Given the description of an element on the screen output the (x, y) to click on. 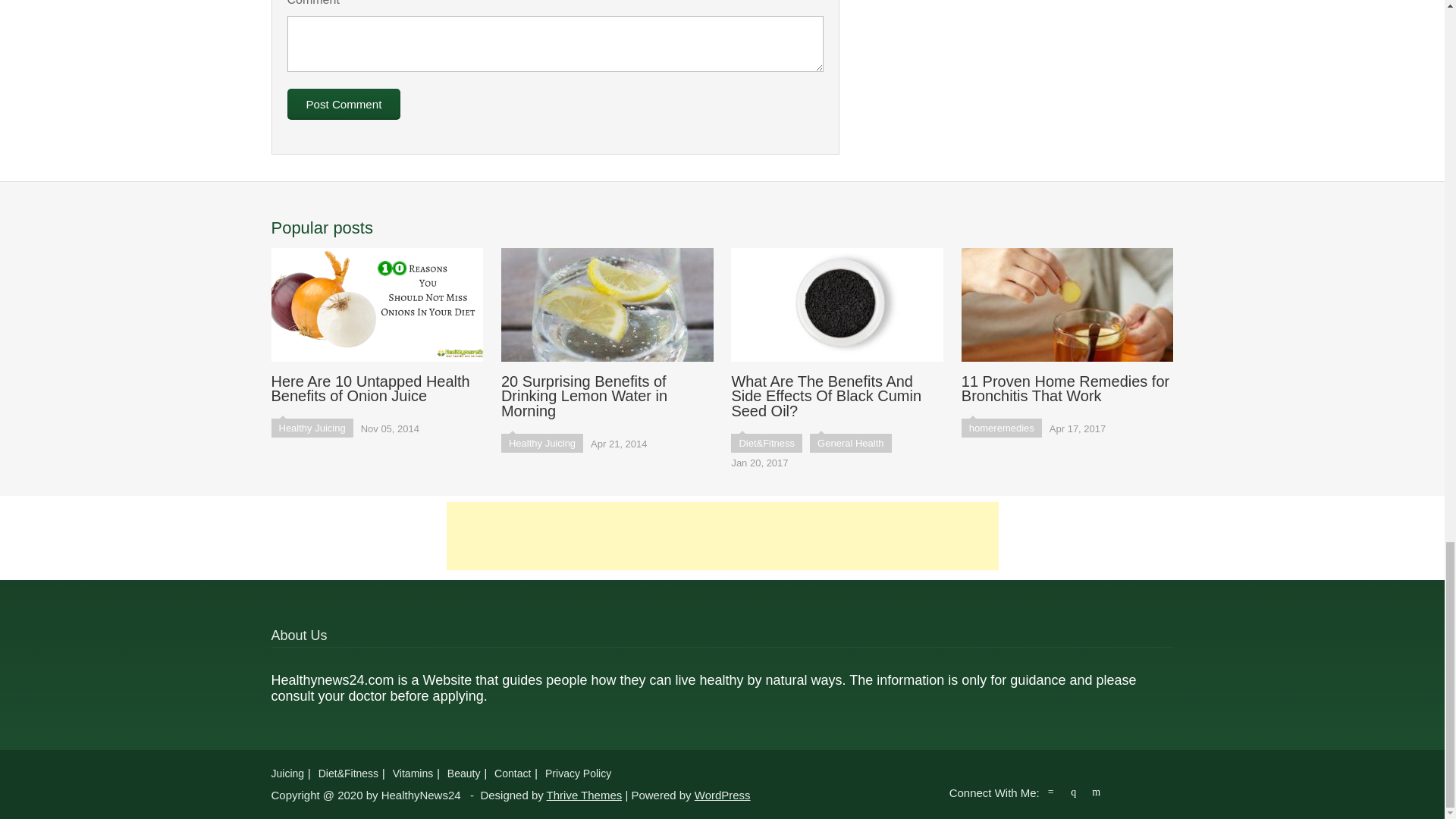
Healthy Juicing (311, 427)
Post Comment (343, 103)
20 Surprising Benefits of Drinking Lemon Water in Morning (606, 333)
Post Comment (343, 103)
Advertisement (721, 536)
Healthy Juicing (541, 443)
Here Are 10 Untapped Health Benefits of Onion Juice (376, 326)
